Given the description of an element on the screen output the (x, y) to click on. 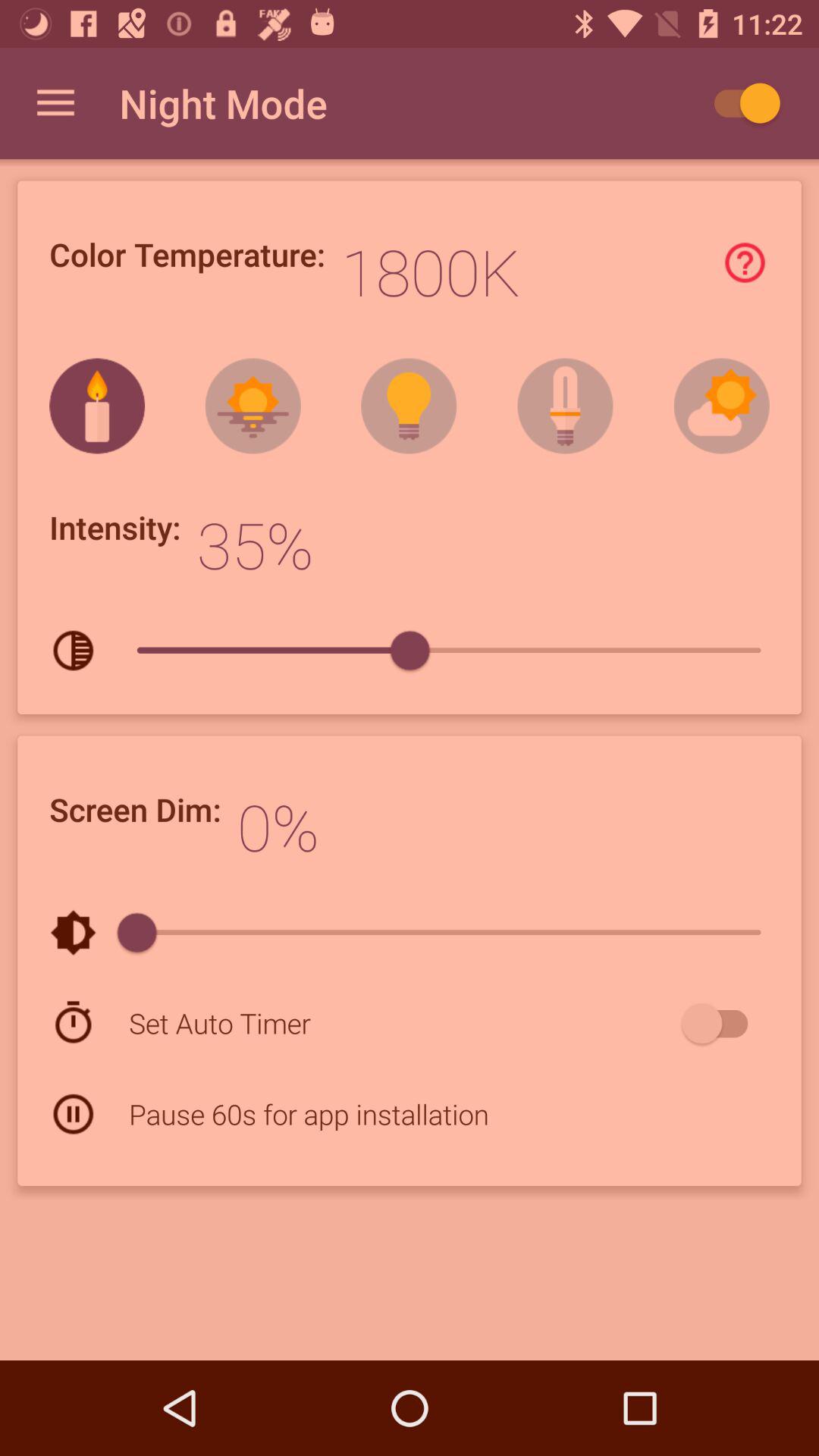
choose the app next to night mode item (739, 103)
